Given the description of an element on the screen output the (x, y) to click on. 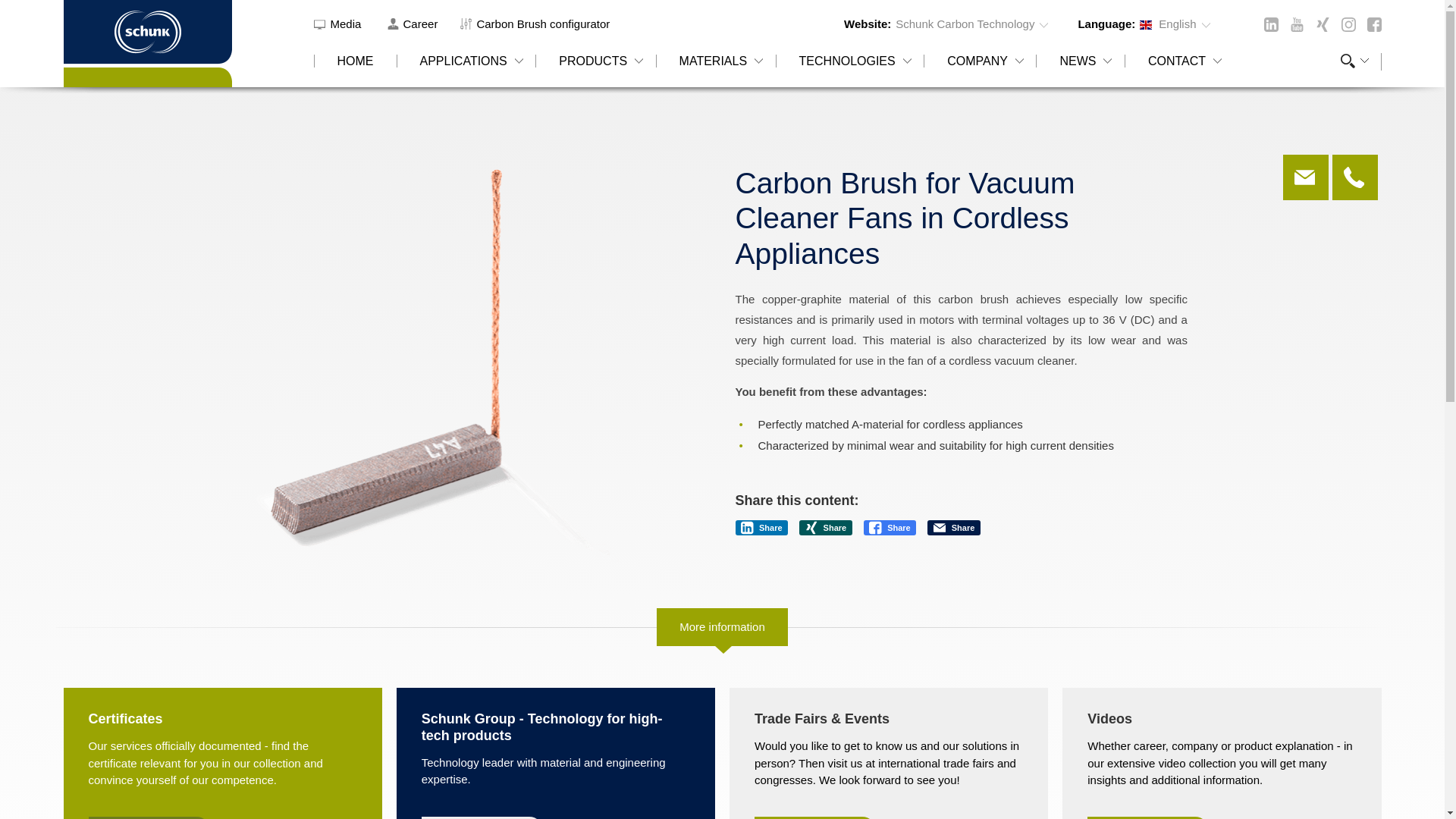
Career (412, 22)
YouTube (1295, 23)
XING (1321, 23)
HOME (355, 69)
APPLICATIONS (465, 69)
PRODUCTS (595, 69)
Instagram (1347, 23)
Facebook (1373, 23)
Media (339, 22)
